Given the description of an element on the screen output the (x, y) to click on. 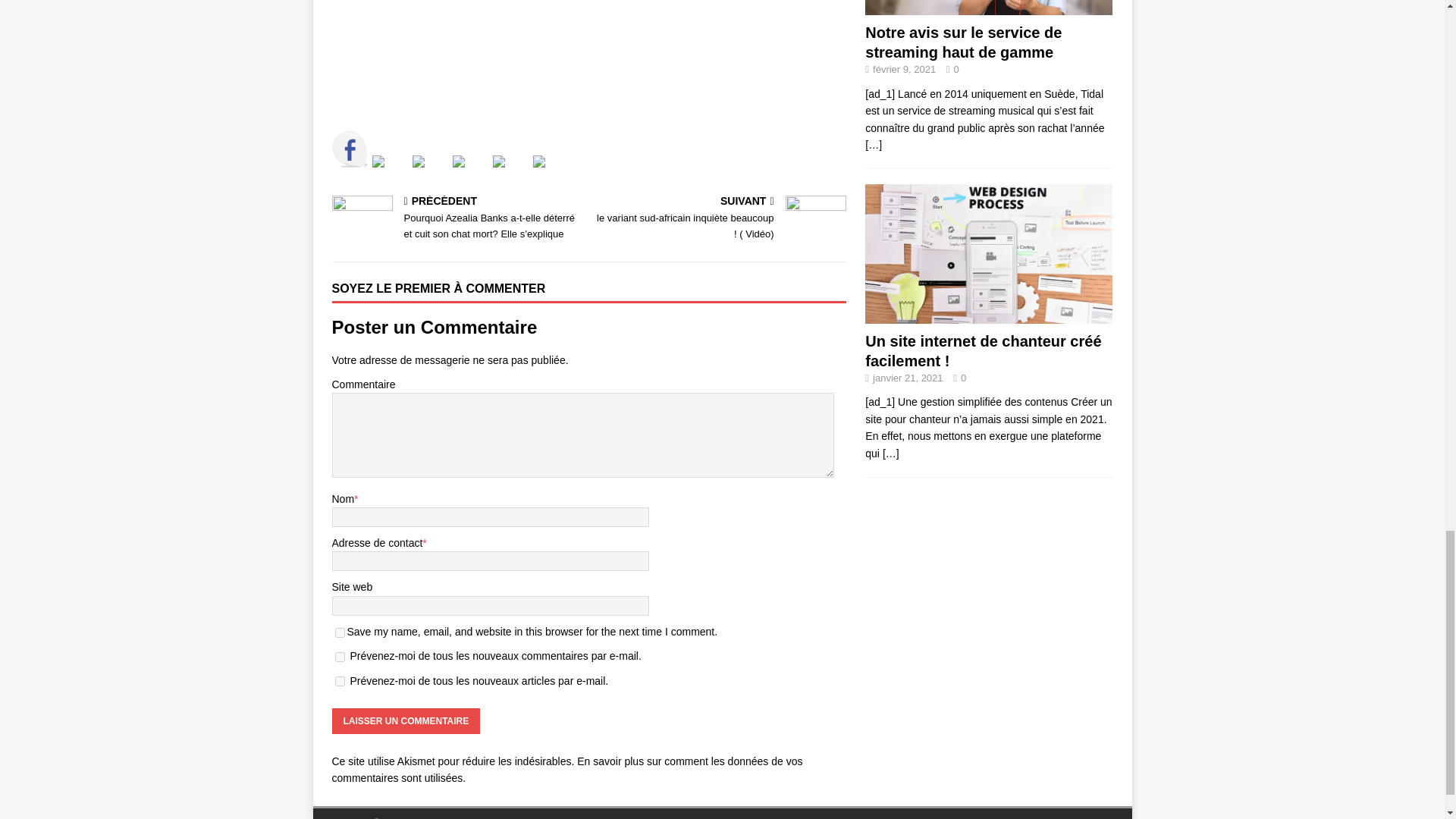
Share by email (550, 173)
Share on Reddit (418, 161)
Pin it with Pinterest (469, 173)
Share on Linkedin (499, 161)
Share on Twitter (389, 173)
subscribe (339, 656)
Laisser un commentaire (405, 720)
Share on Linkedin (511, 173)
yes (339, 633)
Share on Reddit (430, 173)
Share on Facebook (349, 149)
subscribe (339, 681)
Share on Twitter (377, 161)
Pin it with Pinterest (457, 161)
